Given the description of an element on the screen output the (x, y) to click on. 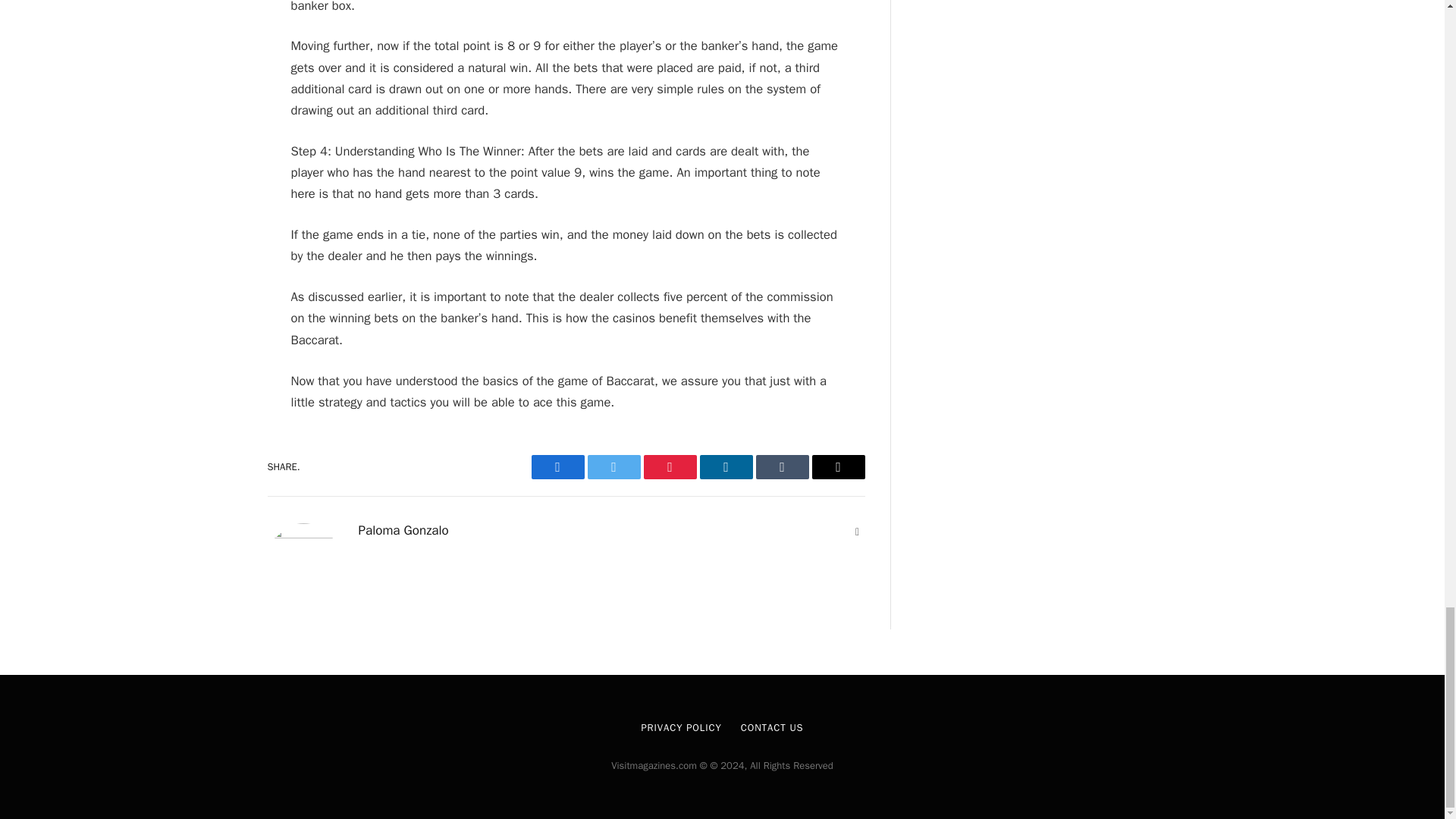
Facebook (557, 467)
